Given the description of an element on the screen output the (x, y) to click on. 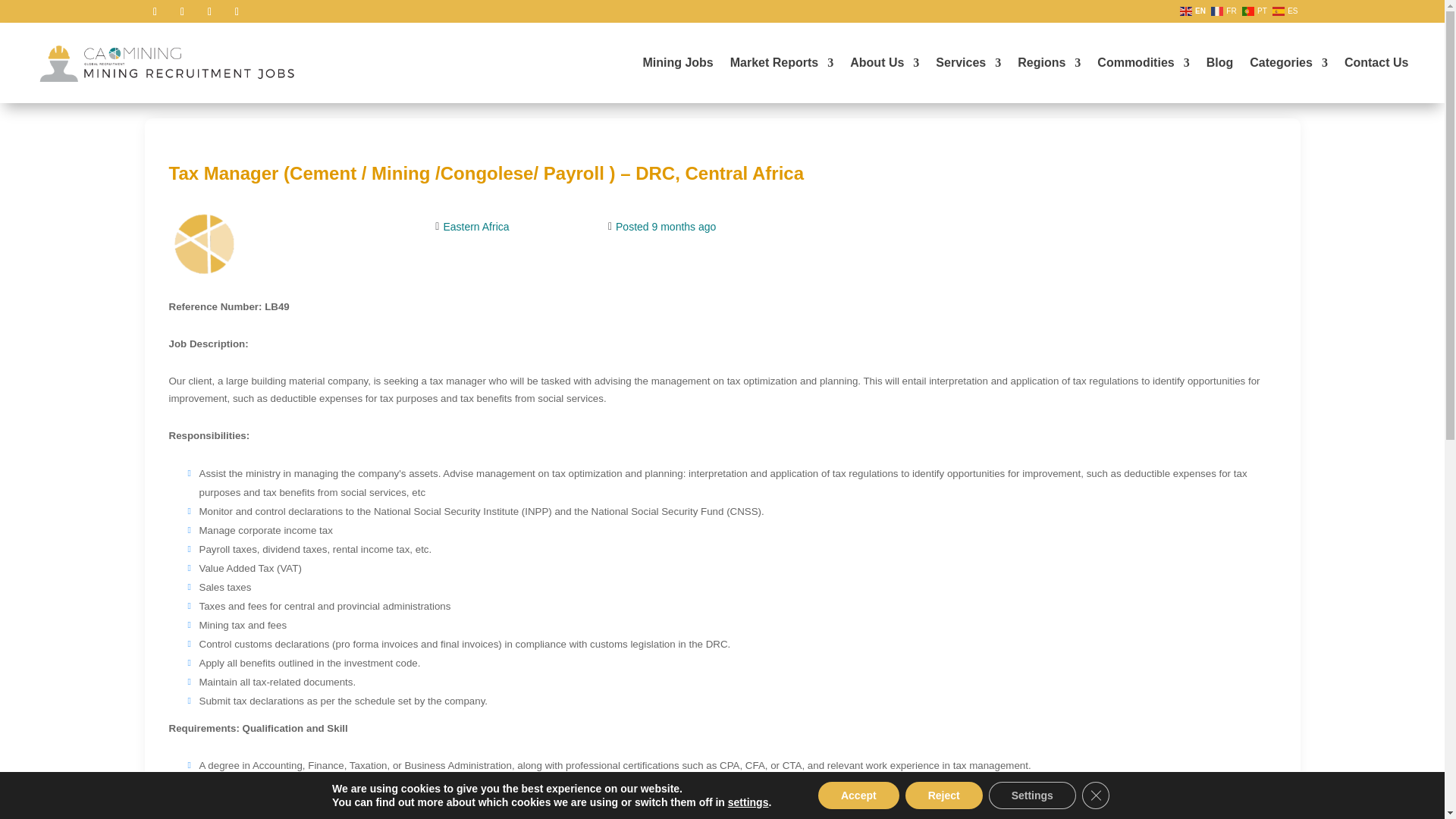
Market Reports (781, 62)
FR (1225, 10)
Portuguese (1255, 10)
EN (1193, 10)
Follow on Facebook (154, 11)
Follow on Instagram (208, 11)
ES (1286, 10)
About Us (884, 62)
Follow on RSS (236, 11)
English (1193, 10)
Spanish (1286, 10)
PT (1255, 10)
Mining Jobs (677, 62)
Follow on X (181, 11)
French (1225, 10)
